Given the description of an element on the screen output the (x, y) to click on. 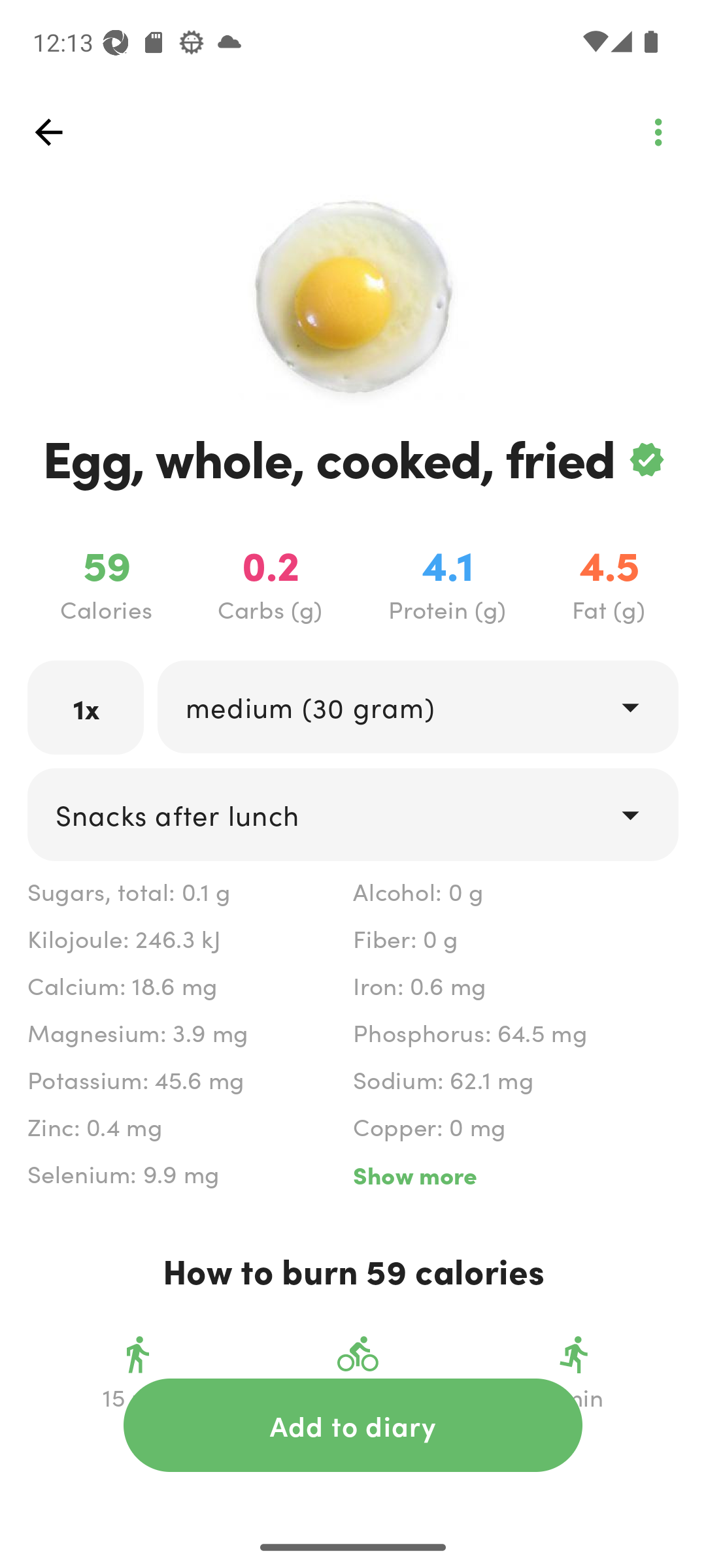
top_left_action (48, 132)
top_left_action (658, 132)
1x labeled_edit_text (85, 707)
drop_down medium (30 gram) (417, 706)
drop_down Snacks after lunch (352, 814)
Show more (515, 1174)
action_button Add to diary (352, 1425)
